Given the description of an element on the screen output the (x, y) to click on. 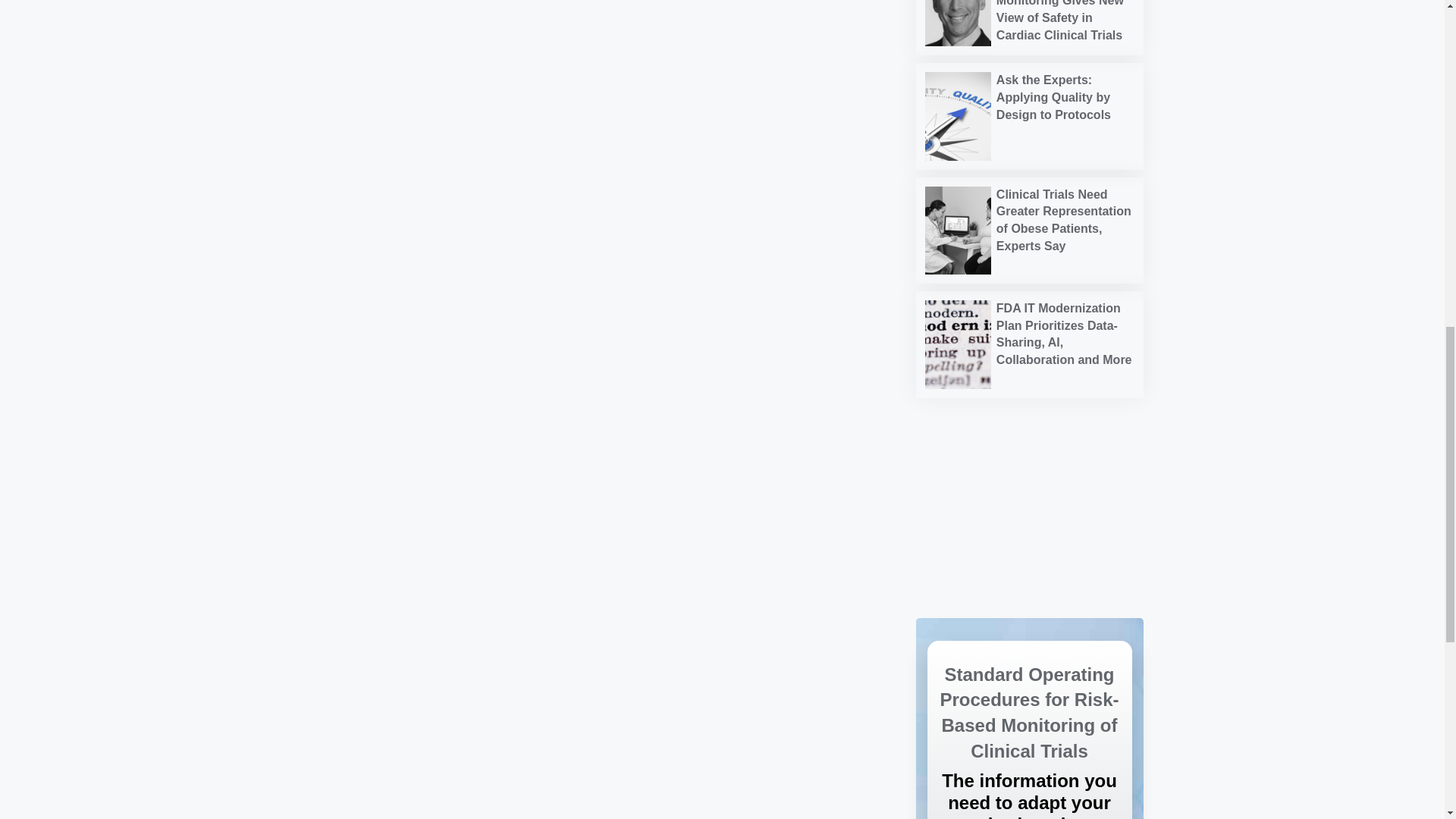
Jonathan Seltzer (957, 22)
3rd party ad content (1028, 556)
3rd party ad content (1028, 458)
